Given the description of an element on the screen output the (x, y) to click on. 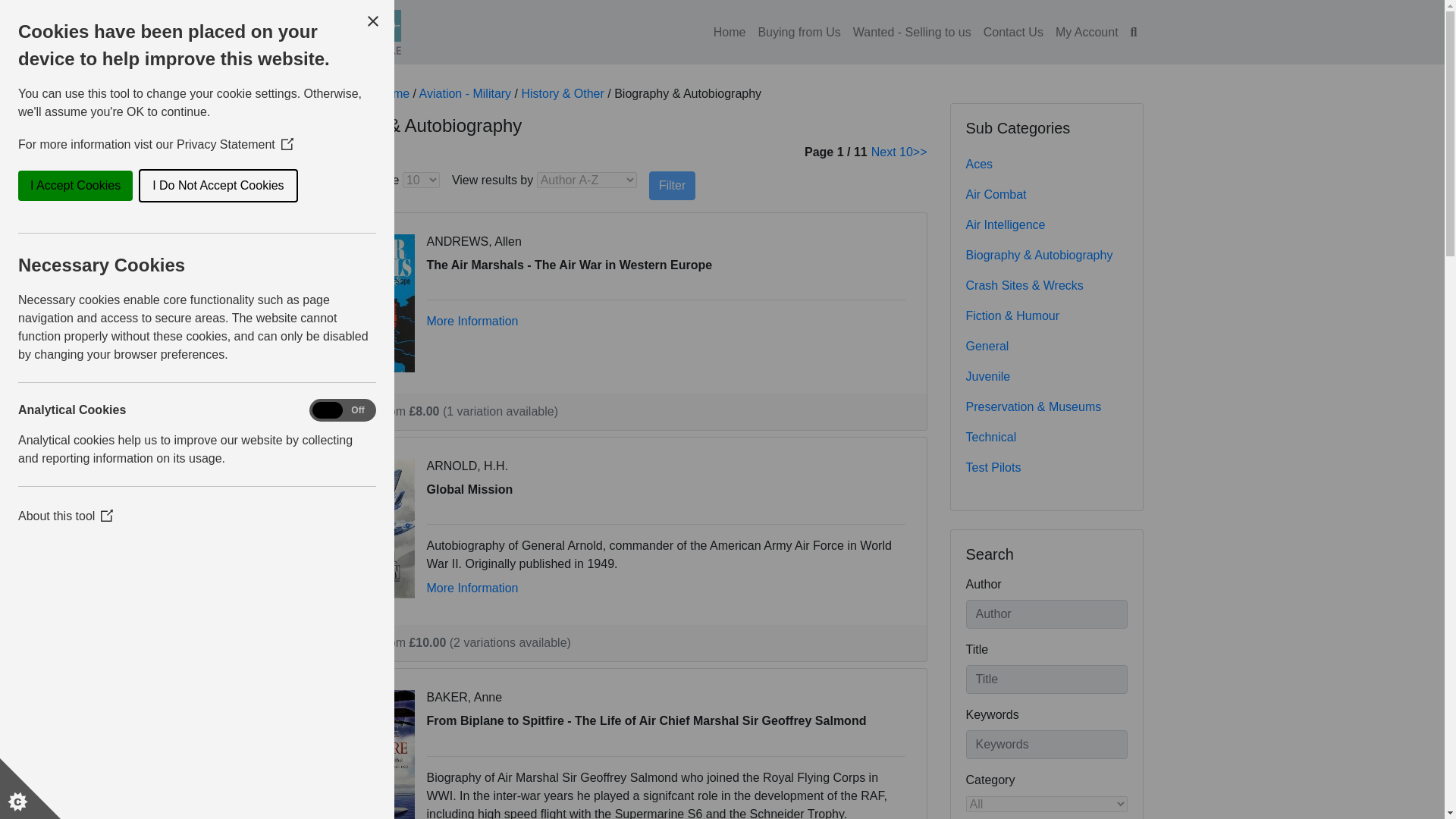
Aces (1046, 164)
Home (729, 31)
My Account (1086, 31)
I Do Not Accept Cookies (65, 185)
More Information (472, 320)
Technical (1046, 437)
Air Combat (1046, 194)
Home (393, 92)
Buying from Us (798, 31)
Aviation - Military (465, 92)
Contact Us (1012, 31)
Global Mission by ARNOLD, H.H. (368, 526)
Wanted - Selling to us (911, 31)
Test Pilots (1046, 467)
